Given the description of an element on the screen output the (x, y) to click on. 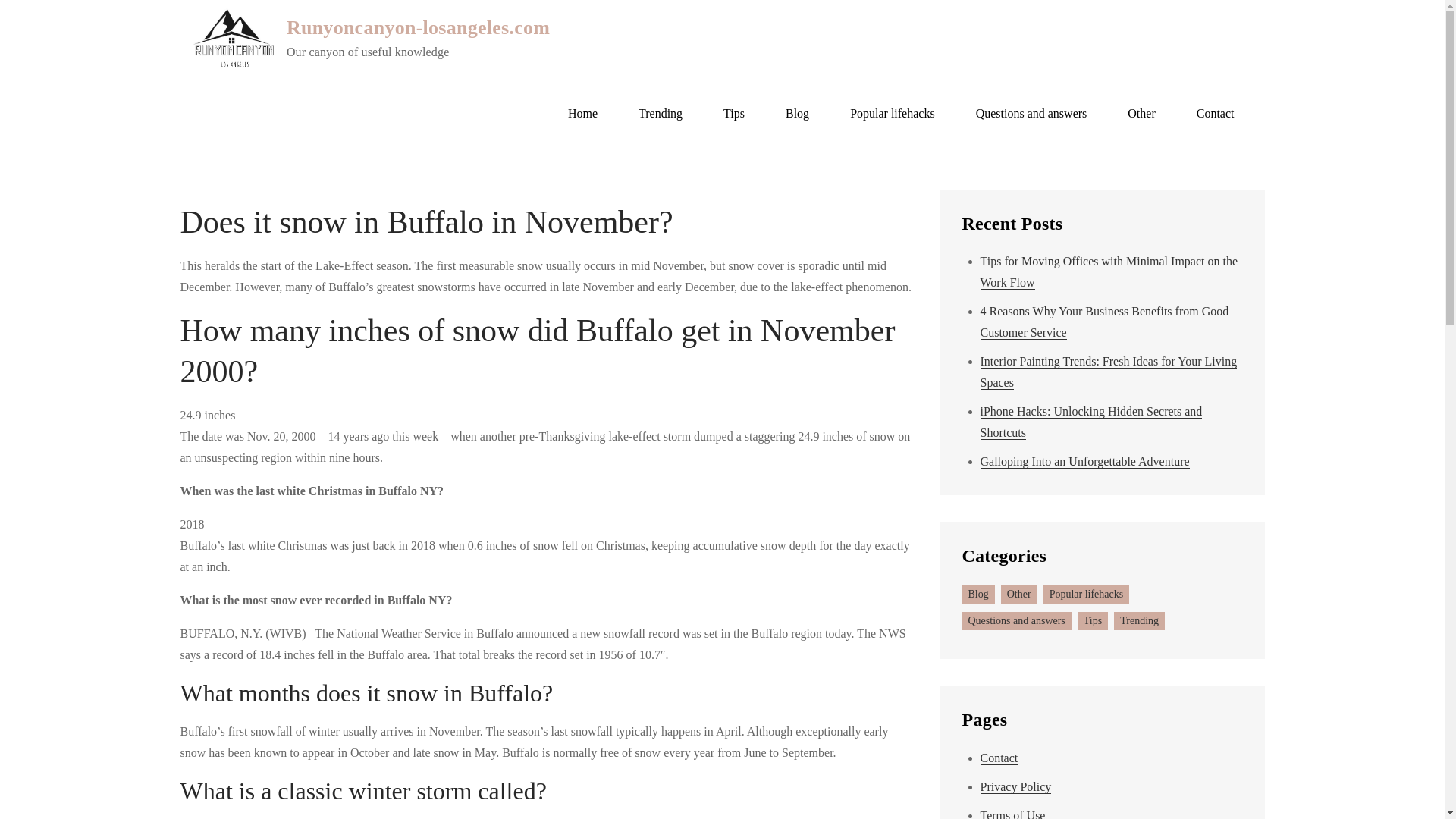
Popular lifehacks (1086, 594)
Questions and answers (1015, 620)
Tips for Moving Offices with Minimal Impact on the Work Flow (1108, 271)
Questions and answers (1031, 113)
Home (581, 113)
Terms of Use (1012, 814)
Privacy Policy (1015, 786)
Popular lifehacks (892, 113)
Contact (1215, 113)
Trending (1138, 620)
Other (1018, 594)
Trending (660, 113)
Contact (998, 757)
Galloping Into an Unforgettable Adventure (1084, 461)
